Given the description of an element on the screen output the (x, y) to click on. 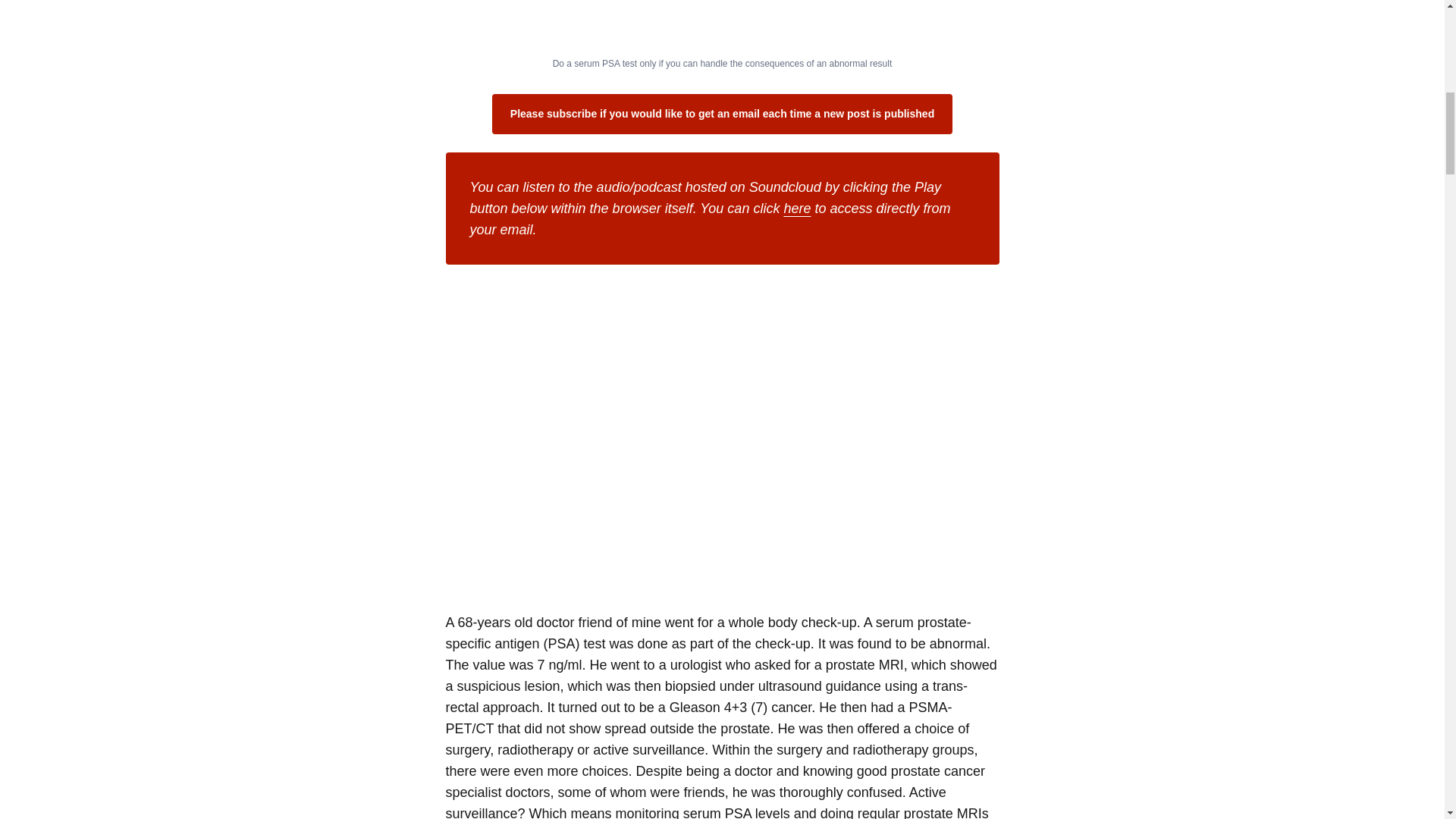
here (796, 208)
